Given the description of an element on the screen output the (x, y) to click on. 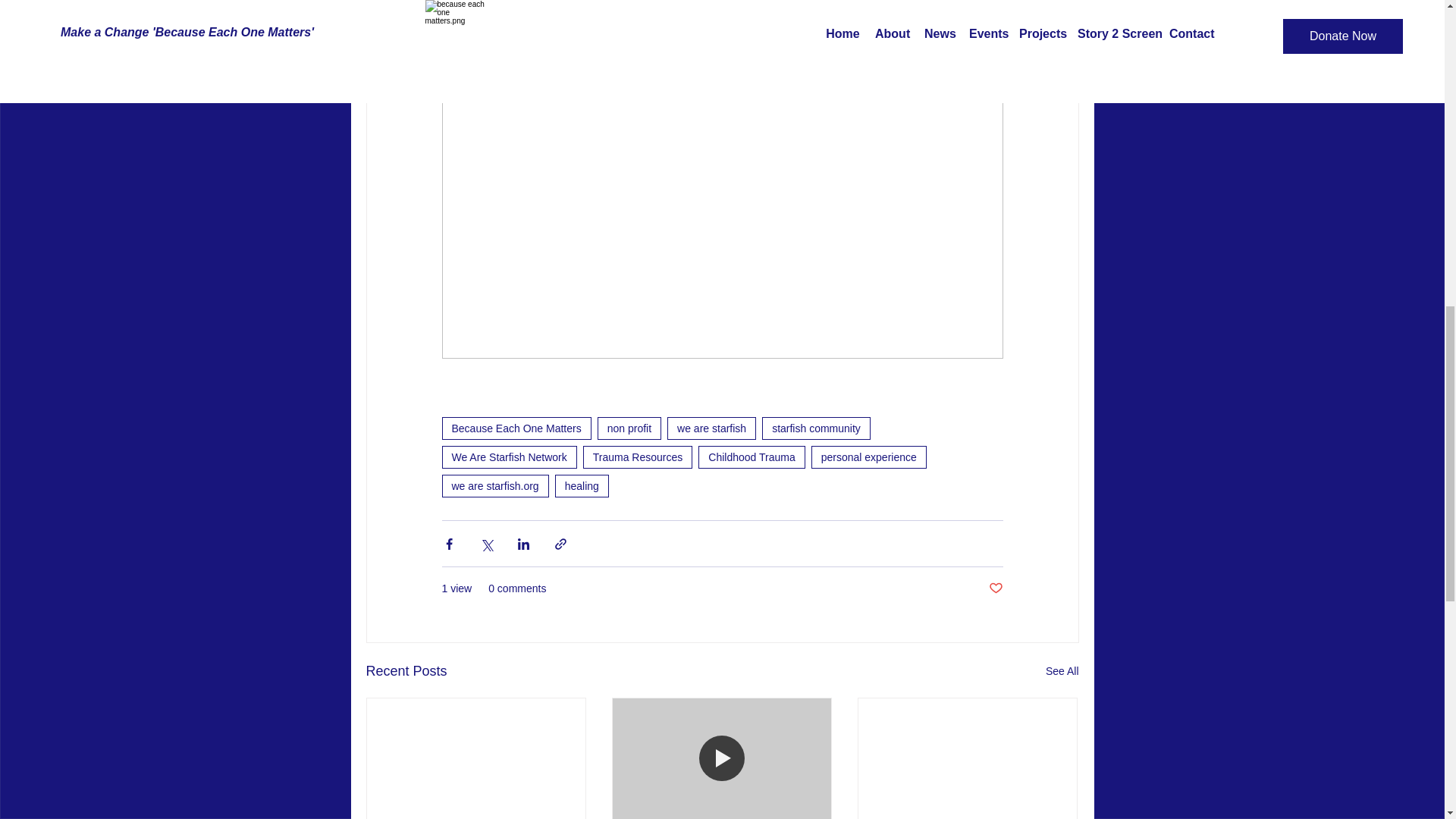
Because Each One Matters (516, 427)
starfish community (815, 427)
Childhood Trauma (751, 456)
See All (1061, 671)
personal experience (868, 456)
we are starfish.org (494, 486)
we are starfish (710, 427)
healing (581, 486)
Trauma Resources (638, 456)
We Are Starfish Network (508, 456)
Post not marked as liked (995, 588)
non profit (628, 427)
